Given the description of an element on the screen output the (x, y) to click on. 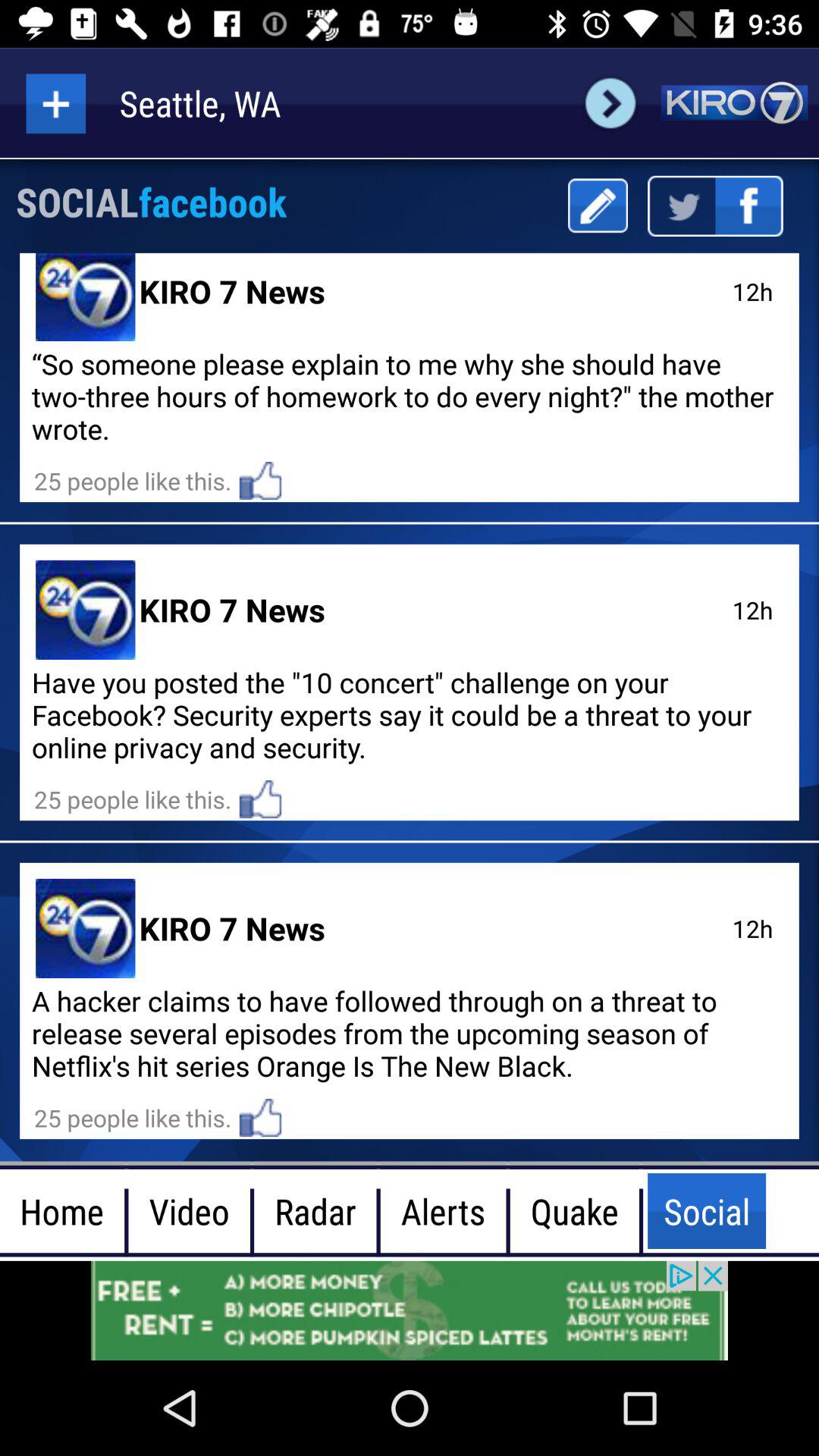
go next (610, 103)
